Given the description of an element on the screen output the (x, y) to click on. 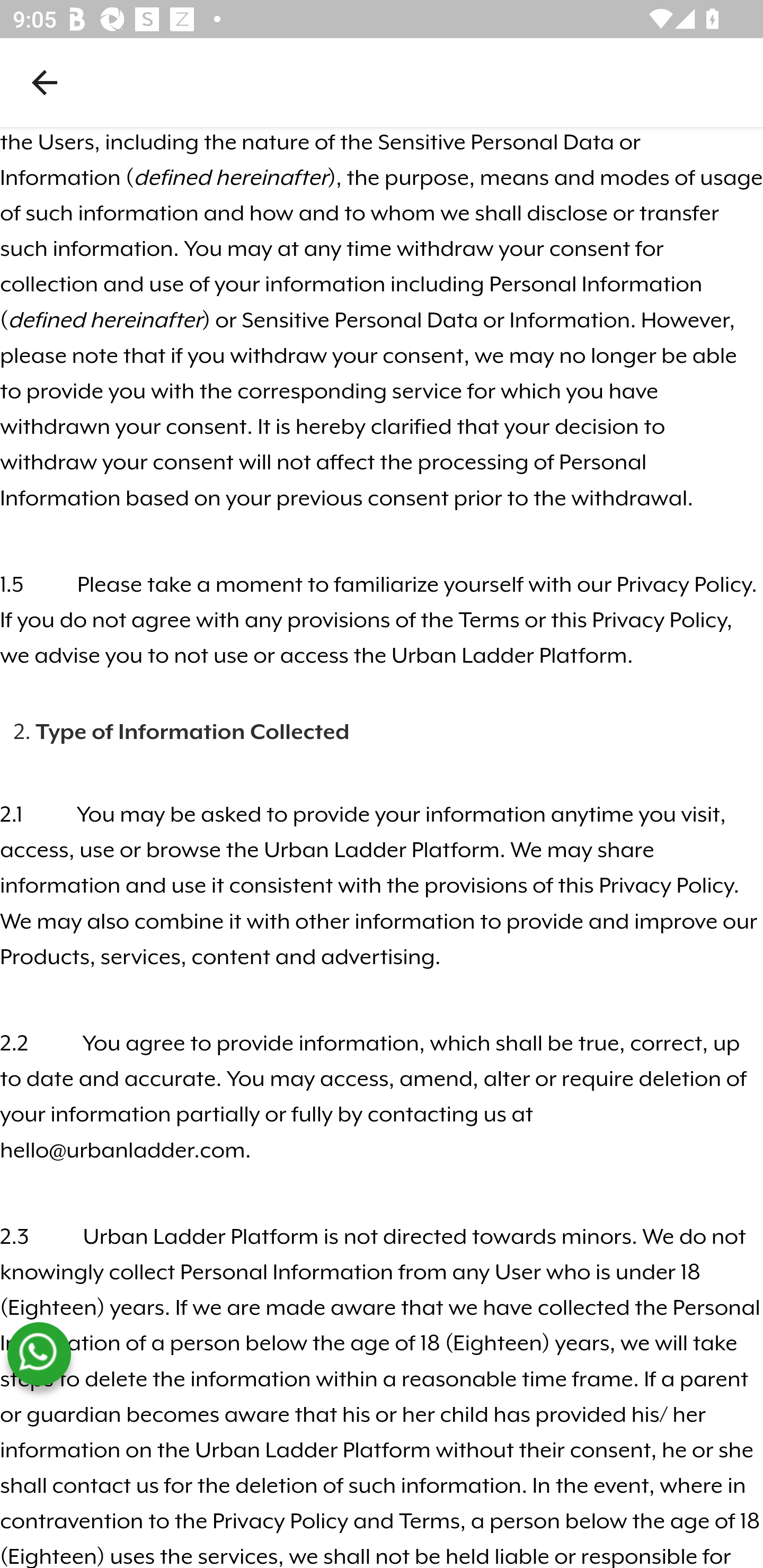
Navigate up (44, 82)
whatsapp (38, 1354)
